Given the description of an element on the screen output the (x, y) to click on. 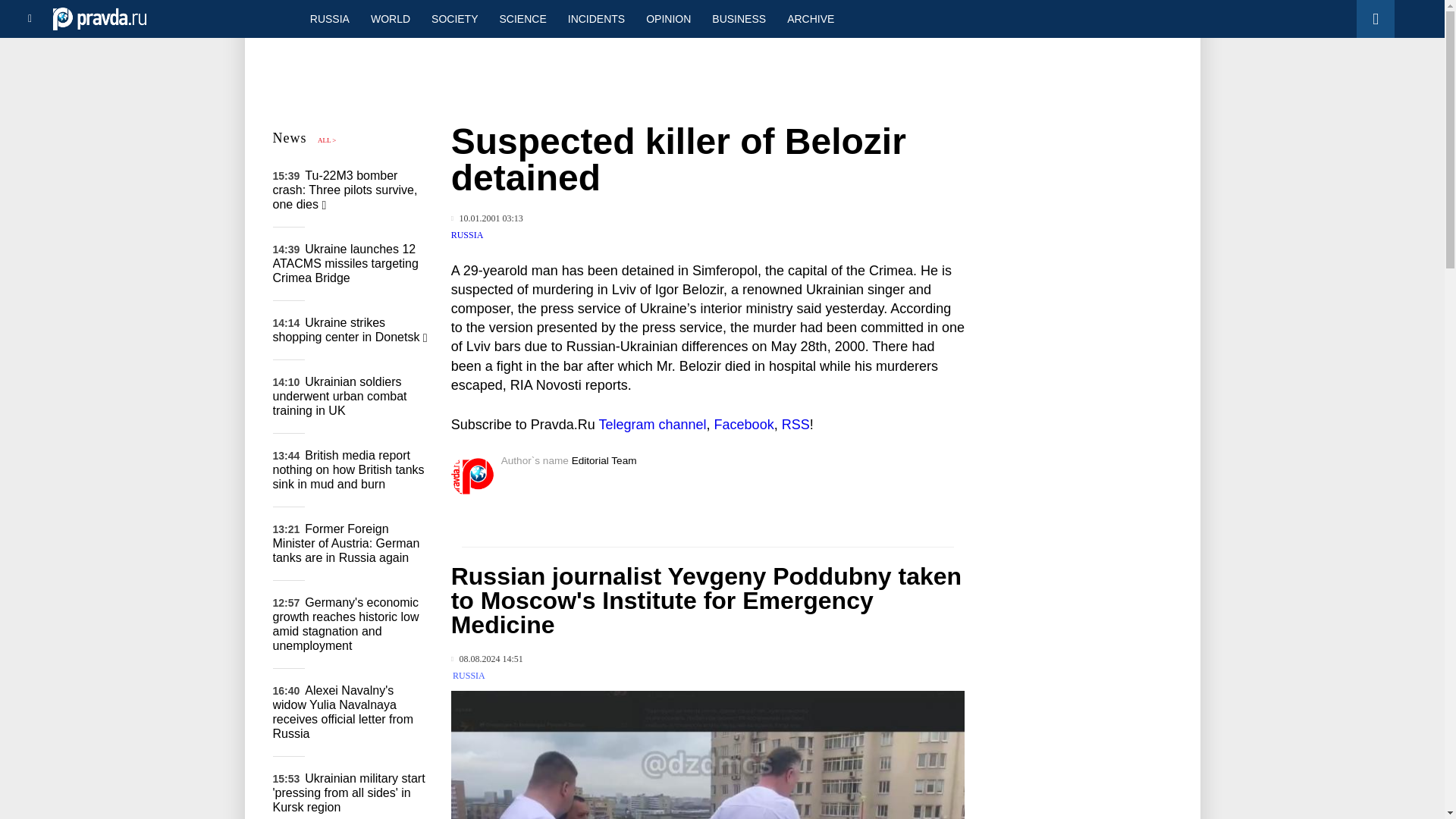
BUSINESS (738, 18)
ARCHIVE (810, 18)
RUSSIA (468, 675)
RUSSIA (467, 235)
INCIDENTS (595, 18)
SOCIETY (453, 18)
OPINION (667, 18)
Facebook (744, 424)
